Given the description of an element on the screen output the (x, y) to click on. 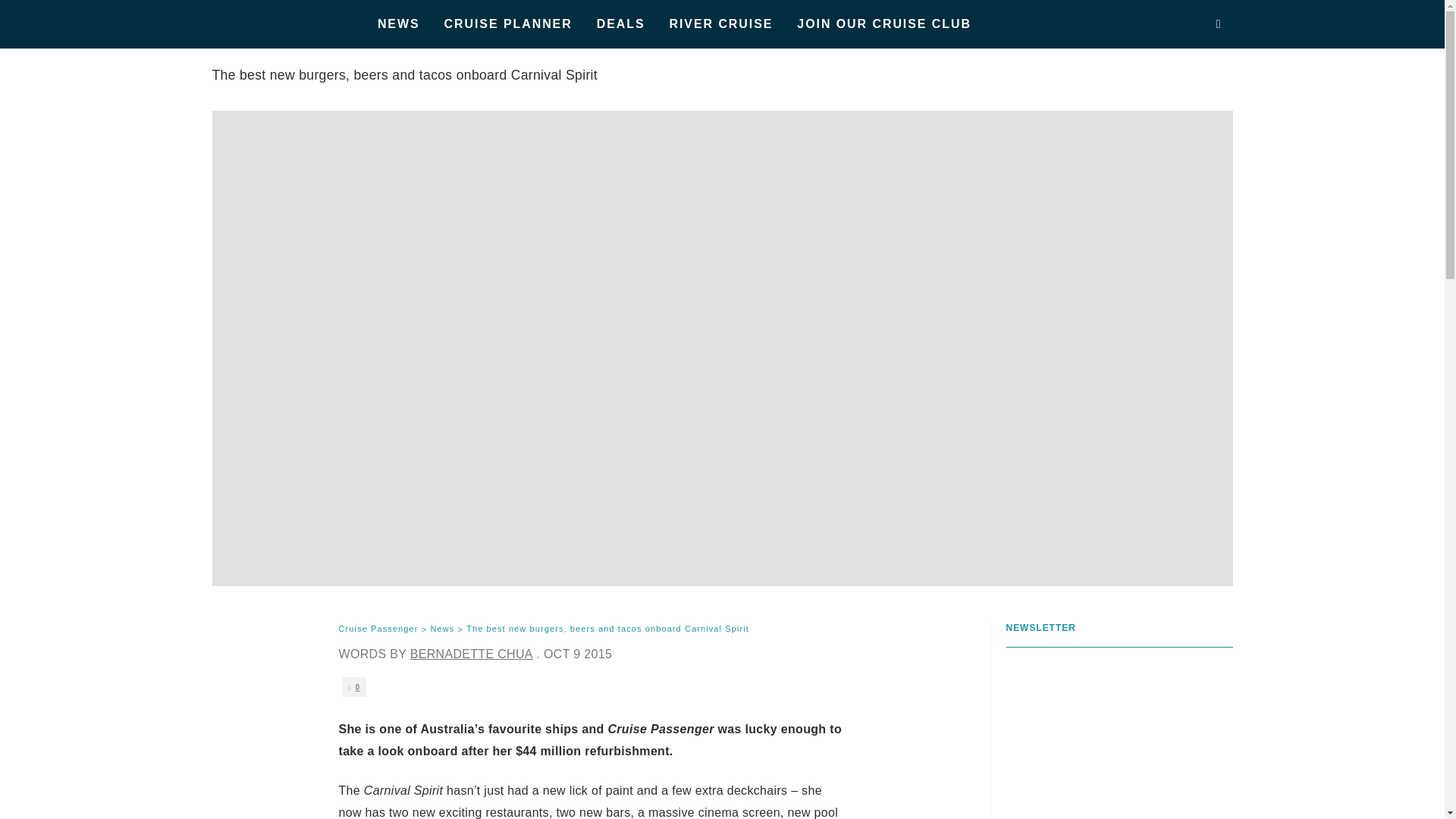
Go to the News Category archives. (441, 628)
NEWS (398, 24)
News (441, 628)
JOIN OUR CRUISE CLUB (884, 24)
CRUISE PLANNER (508, 24)
Cruise Passenger (377, 628)
RIVER CRUISE (722, 24)
Go to Cruise Passenger. (377, 628)
DEALS (621, 24)
BERNADETTE CHUA (471, 653)
